Given the description of an element on the screen output the (x, y) to click on. 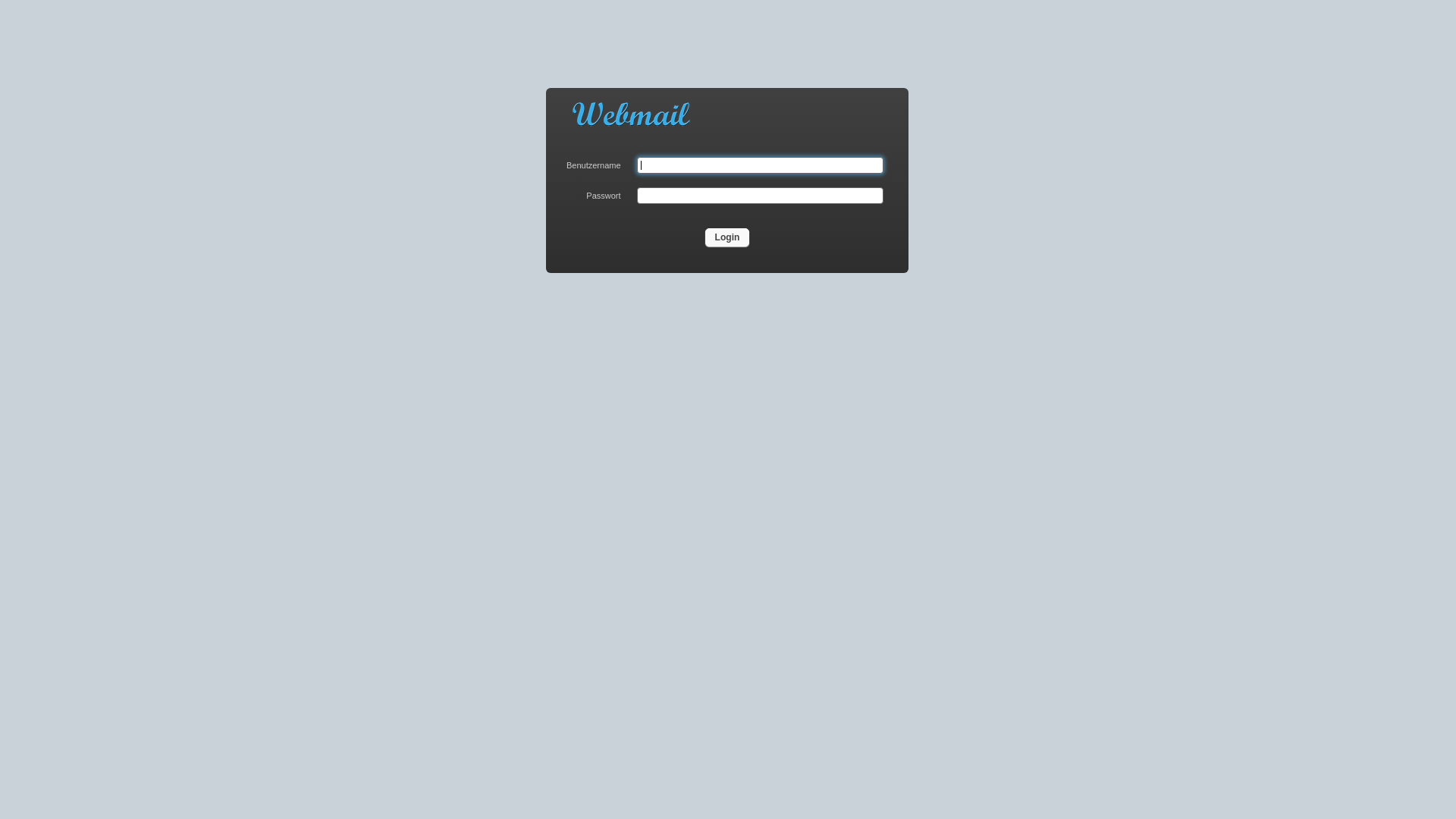
Login Element type: text (727, 237)
